Given the description of an element on the screen output the (x, y) to click on. 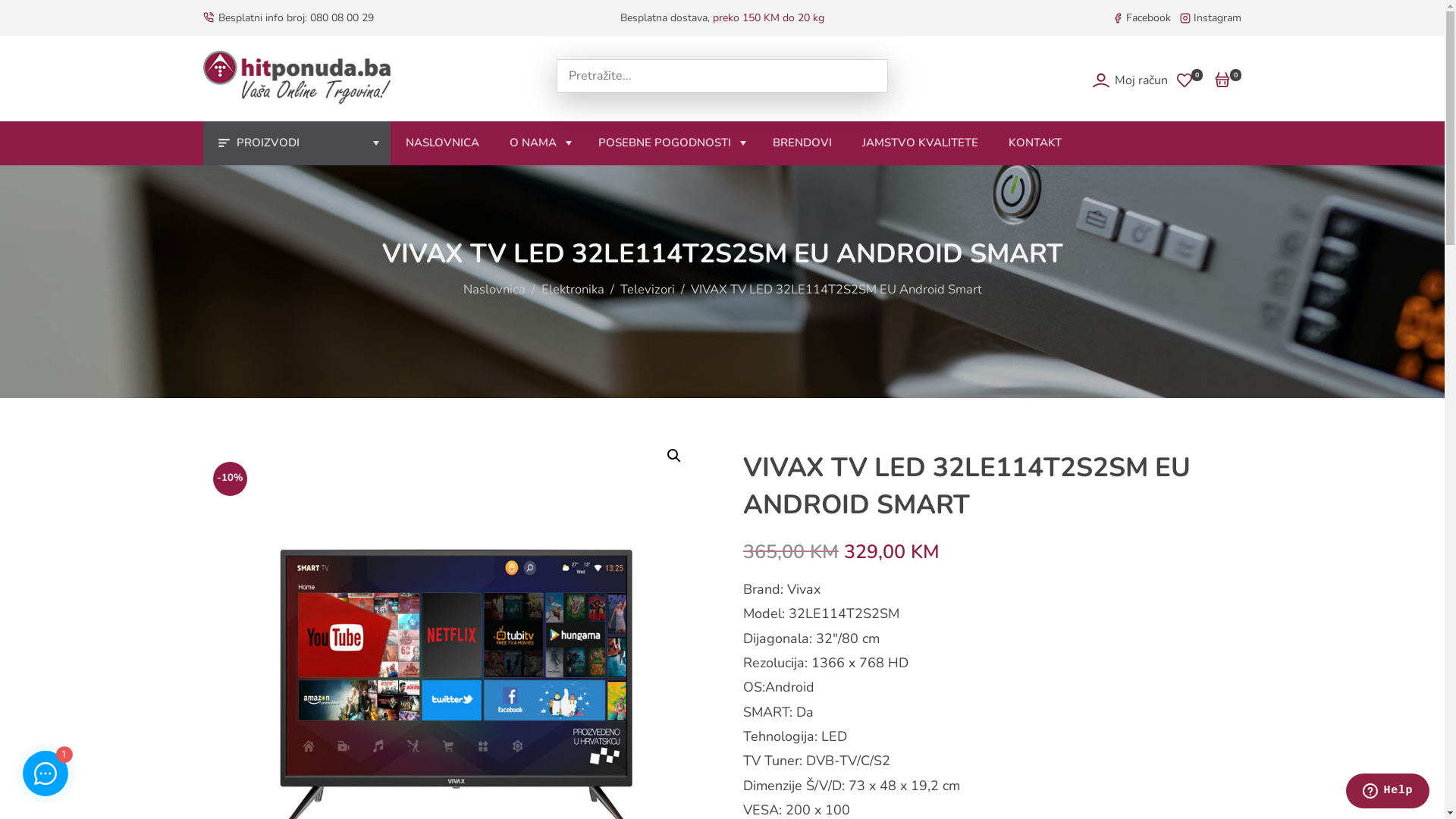
Besplatni info broj: 080 08 00 29 Element type: text (295, 17)
NASLOVNICA Element type: text (441, 143)
Opens a widget where you can chat to one of our agents Element type: hover (1387, 792)
JAMSTVO KVALITETE Element type: text (919, 143)
BRENDOVI Element type: text (801, 143)
0 Element type: text (1189, 81)
HitPonuda.ba Element type: hover (296, 77)
Elektronika Element type: text (572, 289)
POSEBNE POGODNOSTI Element type: text (669, 143)
0 Element type: text (1227, 80)
PROIZVODI Element type: text (296, 143)
Facebook Element type: text (1148, 17)
KONTAKT Element type: text (1034, 143)
Naslovnica Element type: text (493, 289)
Televizori Element type: text (647, 289)
O NAMA Element type: text (538, 143)
Instagram Element type: text (1217, 17)
